Given the description of an element on the screen output the (x, y) to click on. 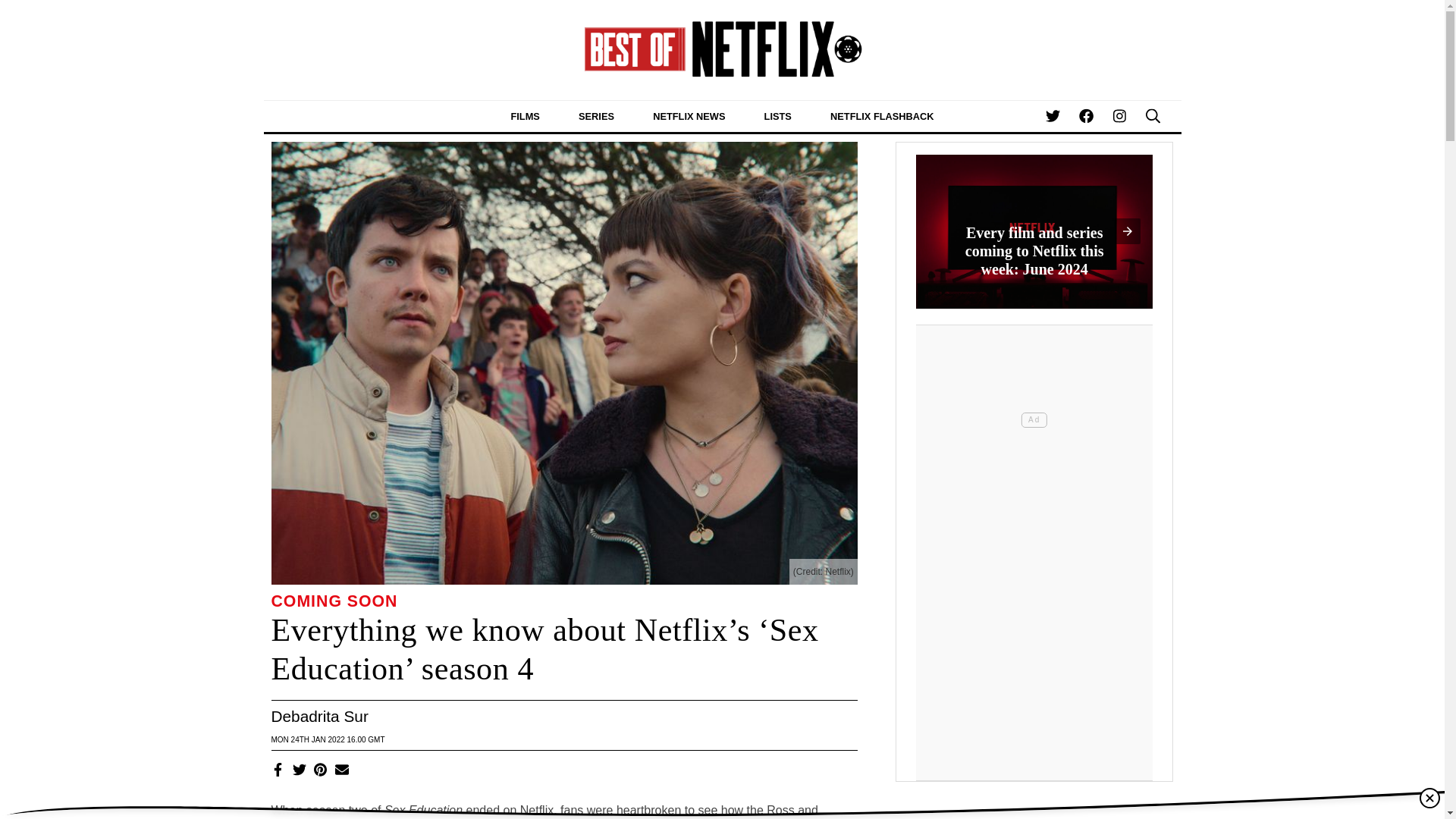
Debadrita Sur (319, 715)
Posts by Debadrita Sur (319, 715)
Every film and series coming to Netflix this week: June 2024 (1034, 231)
COMING SOON (333, 601)
Every film and series coming to Netflix this week: June 2024 (1034, 238)
Every film and series coming to Netflix this week: June 2024 (1034, 231)
LISTS (777, 115)
SERIES (596, 115)
FILMS (525, 115)
NETFLIX NEWS (688, 115)
NETFLIX FLASHBACK (881, 115)
